Given the description of an element on the screen output the (x, y) to click on. 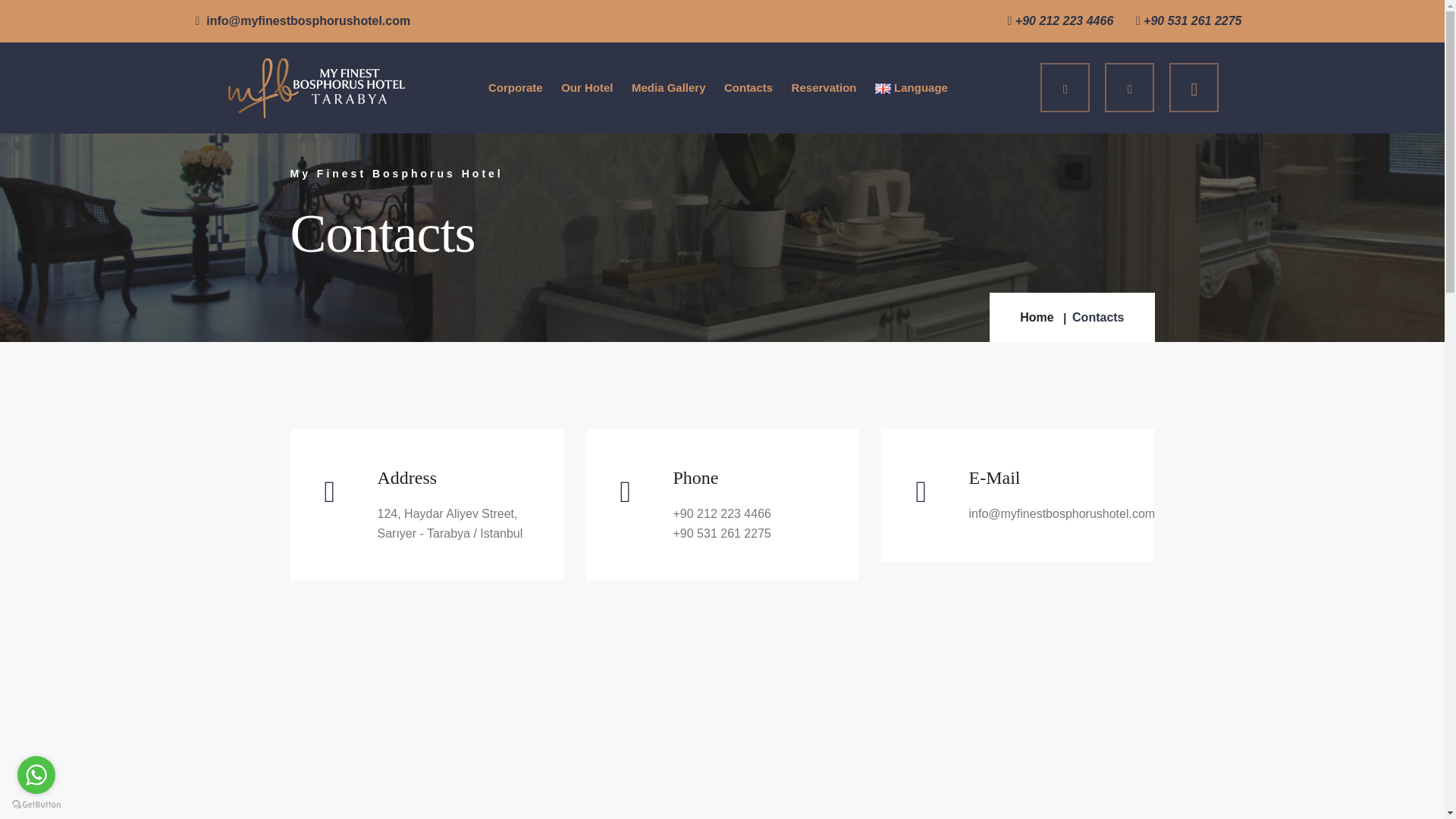
 Language (911, 87)
Media Gallery (668, 87)
Home (1036, 317)
